Given the description of an element on the screen output the (x, y) to click on. 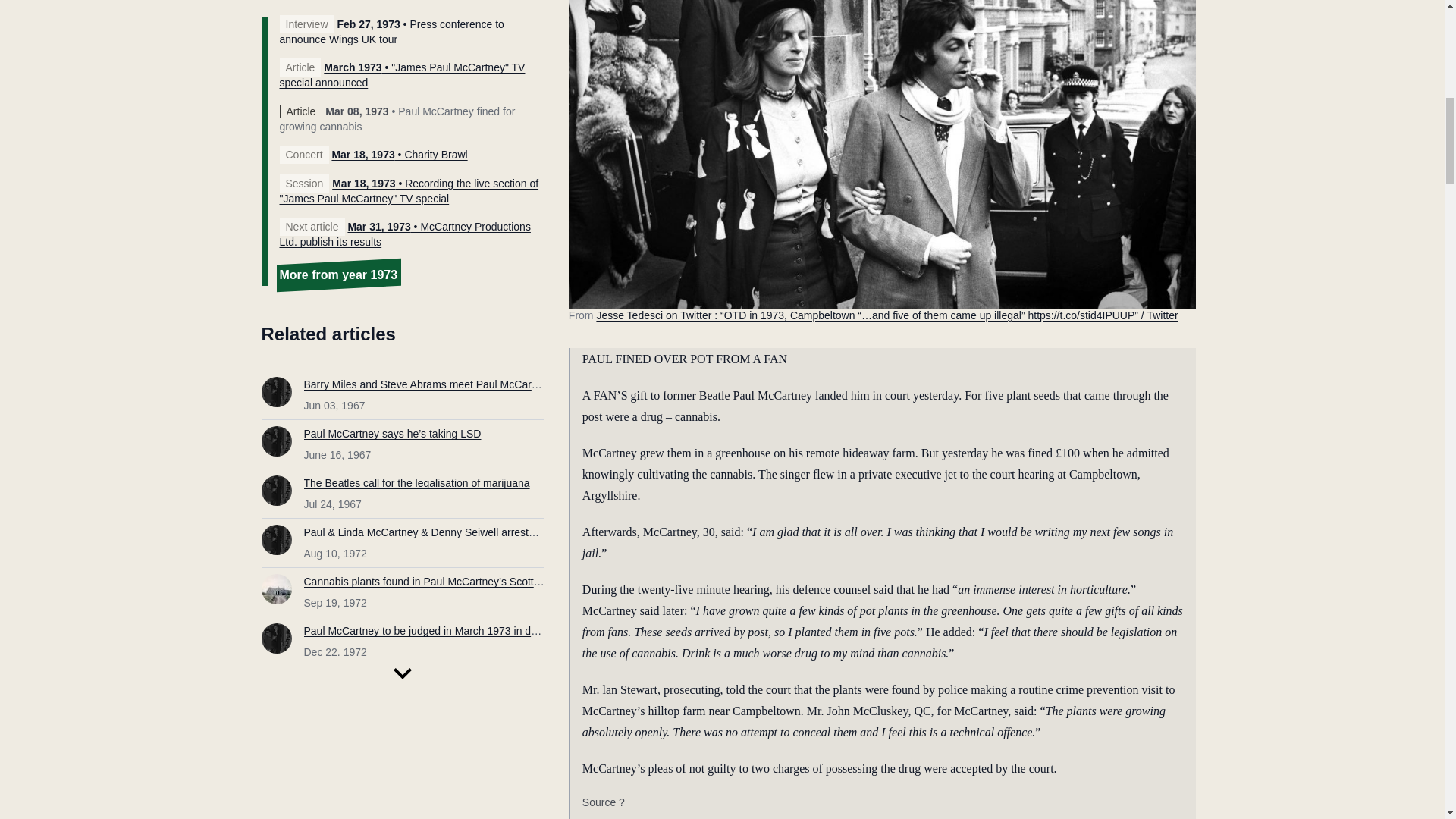
The Beatles call for the legalisation of marijuana (415, 482)
More from year 1973 (338, 274)
Paul McCartney to be judged in March 1973 in drug case (436, 630)
